Given the description of an element on the screen output the (x, y) to click on. 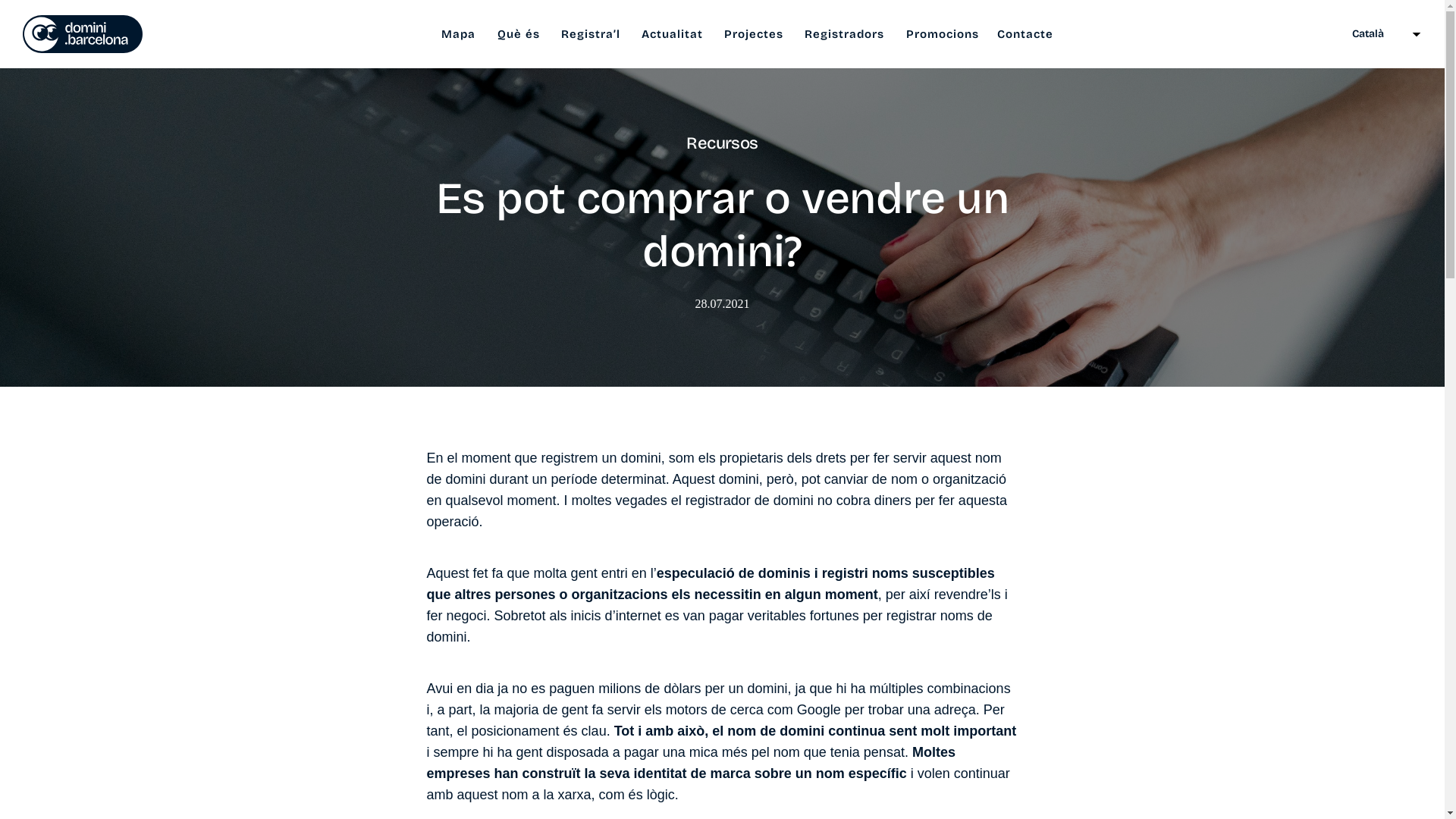
Promocions Element type: text (942, 34)
Actualitat Element type: text (672, 34)
Contacte Element type: text (1025, 34)
Mapa Element type: text (458, 34)
Registradors Element type: text (844, 34)
Es pot comprar o vendre un domini? Element type: text (722, 225)
Projectes Element type: text (753, 34)
